Given the description of an element on the screen output the (x, y) to click on. 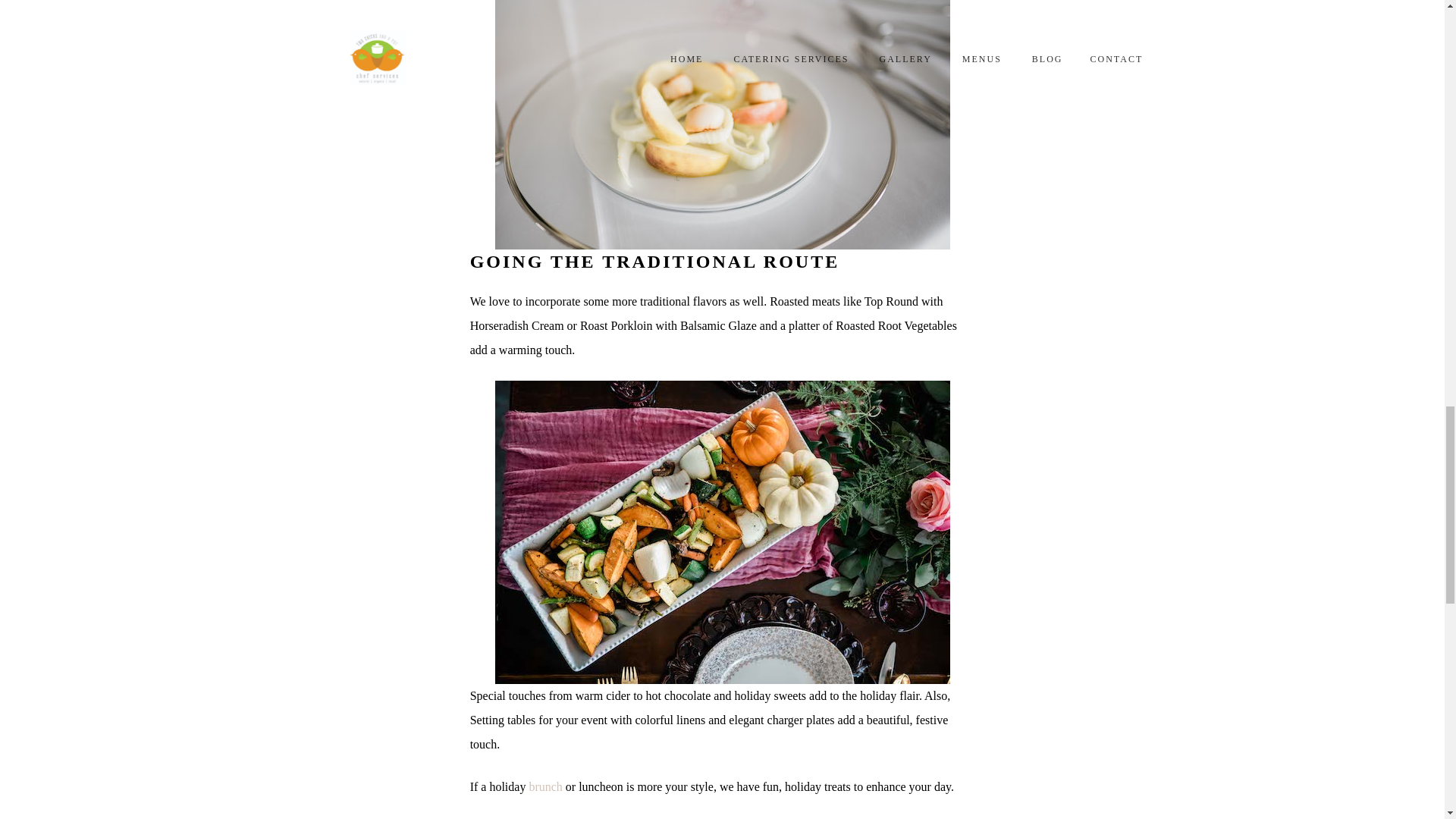
brunch (546, 786)
